Given the description of an element on the screen output the (x, y) to click on. 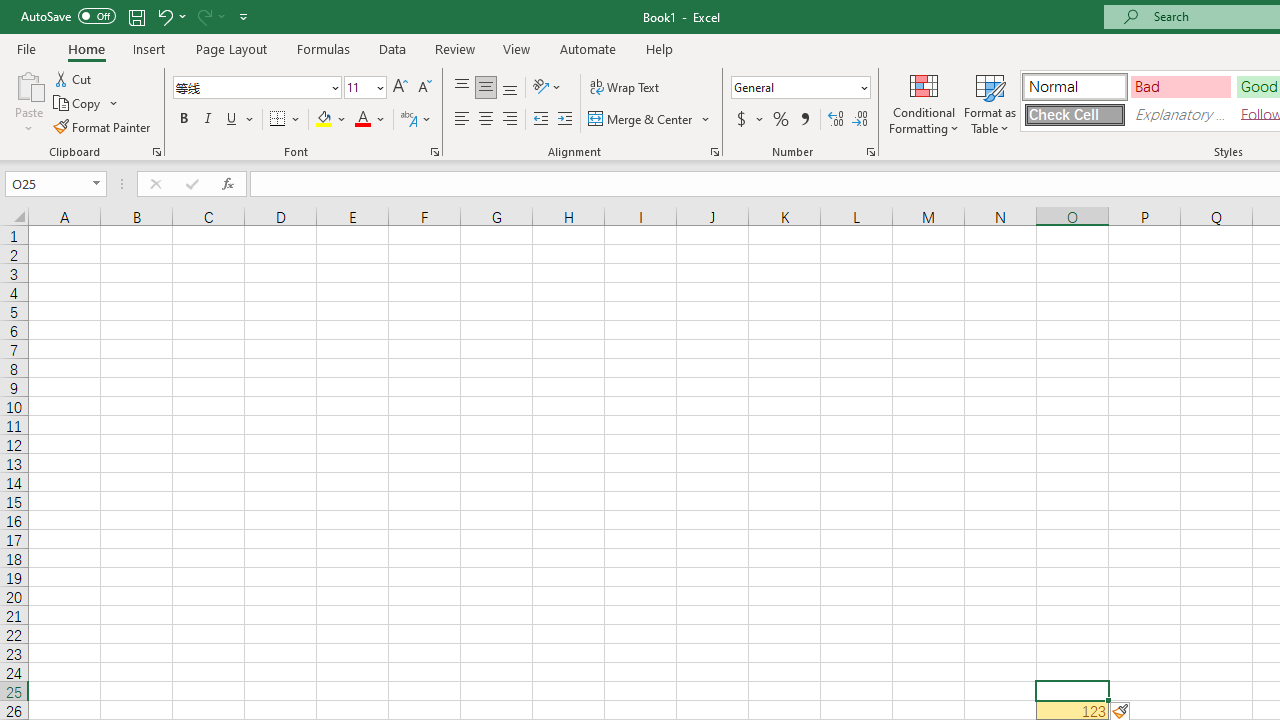
Paste (28, 84)
Review (454, 48)
Automate (588, 48)
Bottom Align (509, 87)
Font Color RGB(255, 0, 0) (362, 119)
Align Right (509, 119)
Increase Font Size (399, 87)
View (517, 48)
Accounting Number Format (749, 119)
Conditional Formatting (924, 102)
Font (250, 87)
Fill Color RGB(255, 255, 0) (324, 119)
Number Format (794, 87)
